Given the description of an element on the screen output the (x, y) to click on. 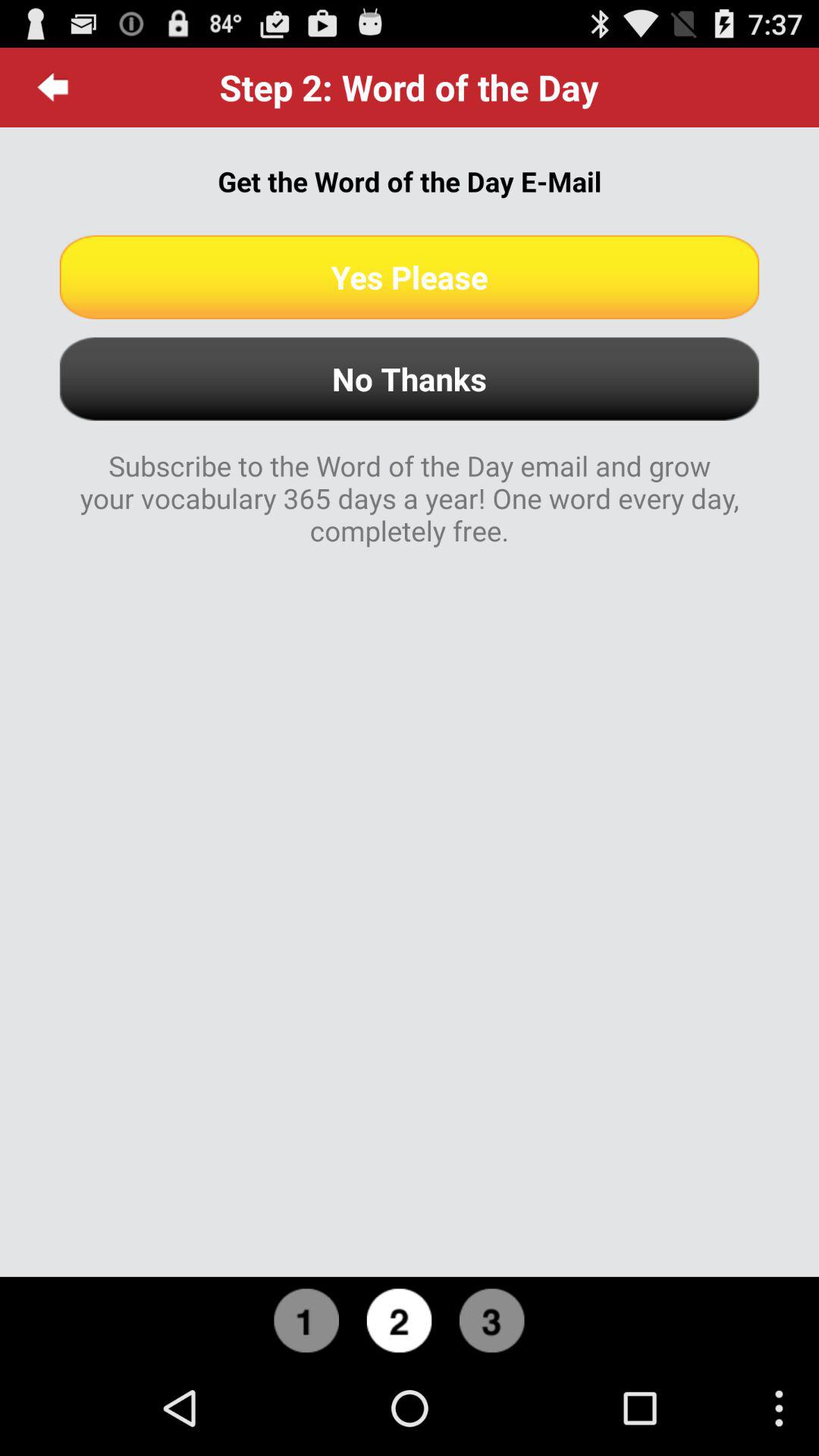
select app above subscribe to the icon (409, 378)
